Given the description of an element on the screen output the (x, y) to click on. 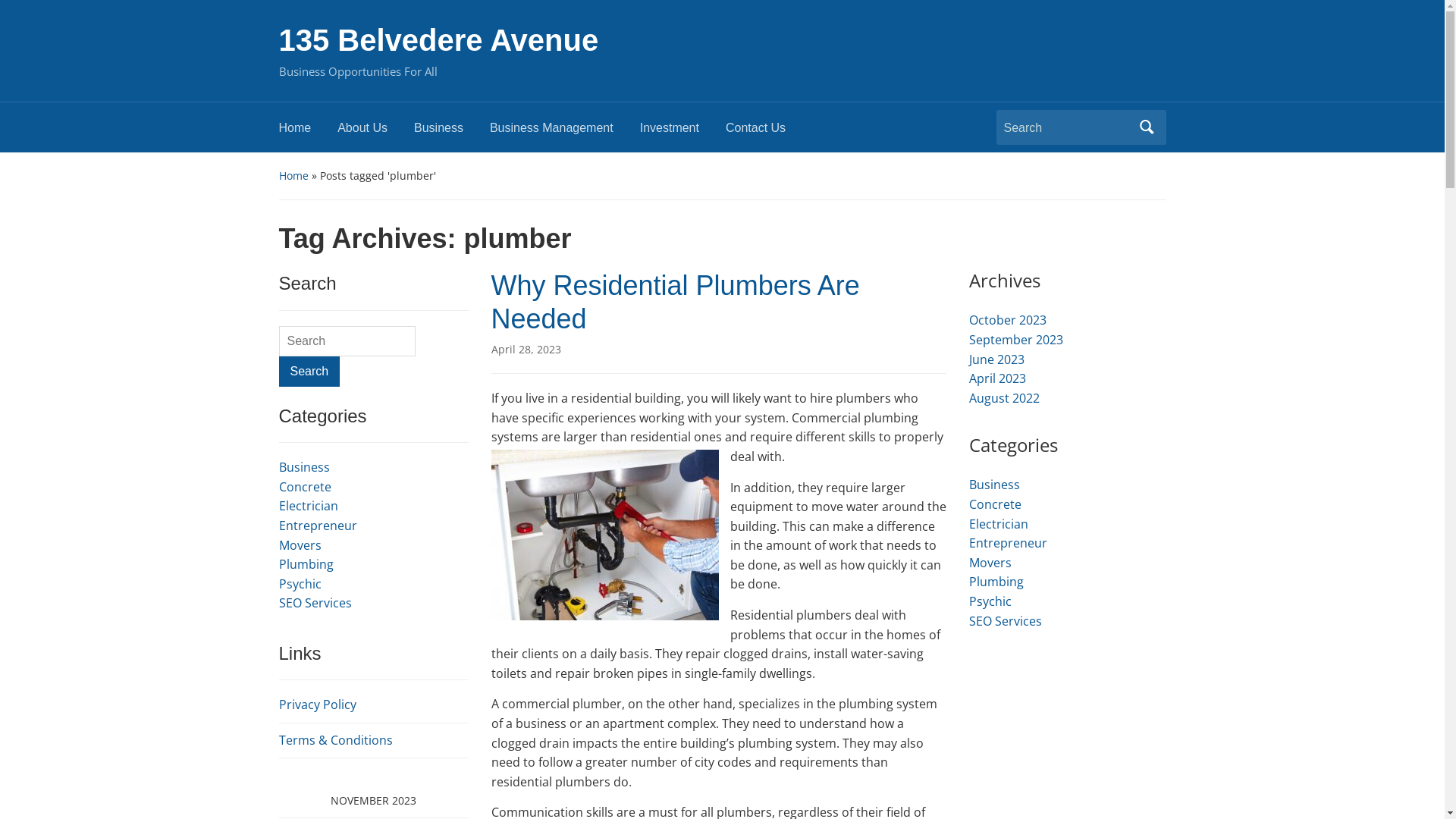
Concrete Element type: text (305, 486)
April 28, 2023 Element type: text (526, 349)
Why Residential Plumbers Are Needed Element type: text (675, 301)
Entrepreneur Element type: text (1008, 542)
Movers Element type: text (990, 562)
Contact Us Element type: text (768, 131)
Plumbing Element type: text (306, 563)
SEO Services Element type: text (315, 602)
Business Element type: text (304, 466)
April 2023 Element type: text (997, 378)
Psychic Element type: text (300, 583)
Home Element type: text (293, 175)
Psychic Element type: text (990, 601)
Business Element type: text (451, 131)
About Us Element type: text (375, 131)
Plumbing Element type: text (996, 581)
135 Belvedere Avenue Element type: text (439, 39)
Electrician Element type: text (308, 505)
Terms & Conditions Element type: text (335, 739)
Concrete Element type: text (995, 503)
Movers Element type: text (300, 544)
SEO Services Element type: text (1005, 620)
Search Element type: text (1146, 127)
Entrepreneur Element type: text (318, 525)
Electrician Element type: text (998, 523)
October 2023 Element type: text (1007, 319)
August 2022 Element type: text (1004, 397)
Investment Element type: text (682, 131)
Search Element type: text (309, 371)
Privacy Policy Element type: text (317, 704)
Home Element type: text (308, 131)
Business Element type: text (994, 484)
September 2023 Element type: text (1016, 339)
Business Management Element type: text (564, 131)
June 2023 Element type: text (996, 359)
